Given the description of an element on the screen output the (x, y) to click on. 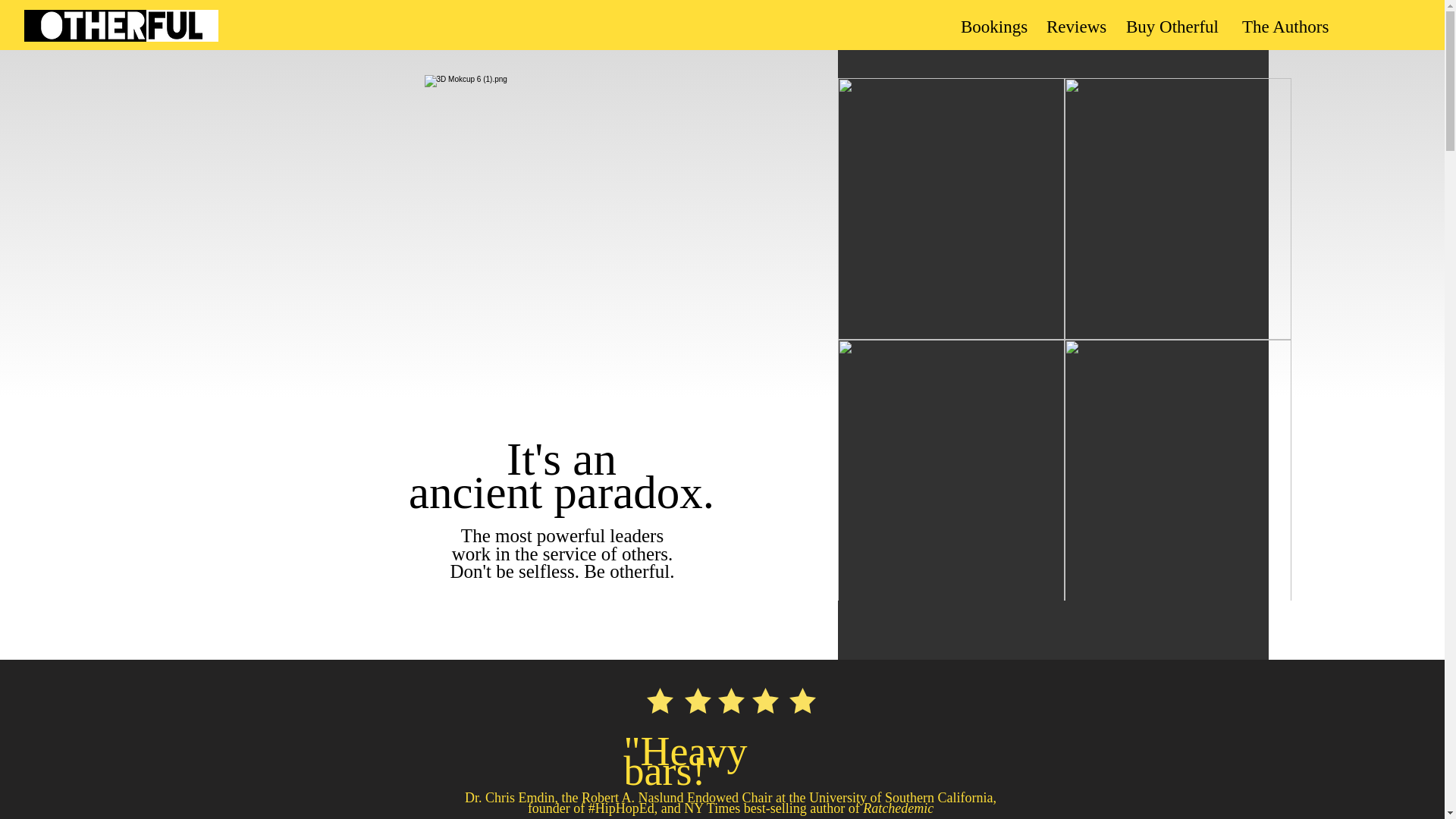
Buy Otherful (1172, 26)
Bookings (992, 26)
Reviews (1075, 26)
The Authors (1284, 26)
